Given the description of an element on the screen output the (x, y) to click on. 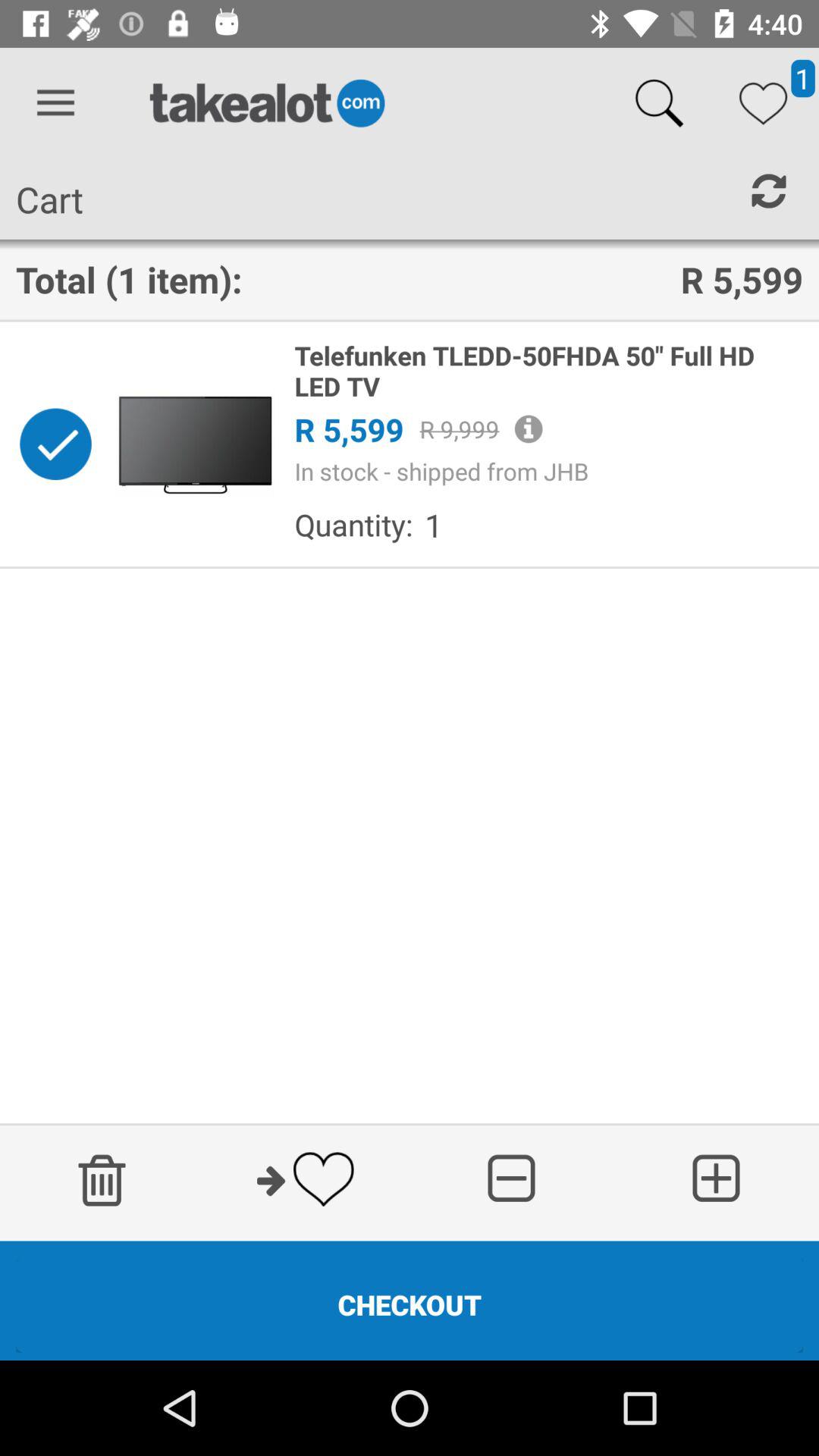
click the telefunken tledd 50fhda item (548, 370)
